Given the description of an element on the screen output the (x, y) to click on. 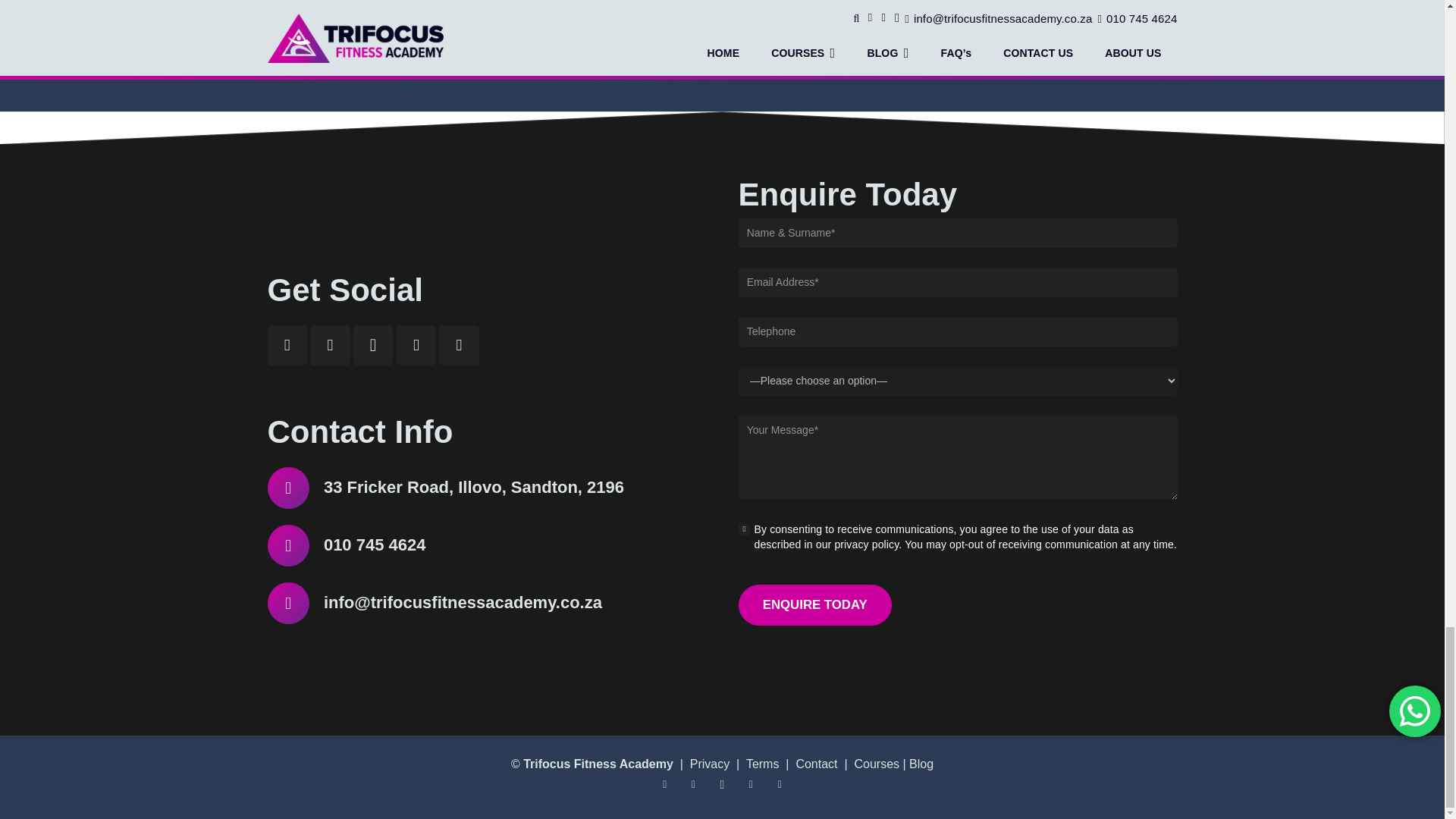
WhatsApp (416, 345)
Instagram (373, 345)
Facebook (664, 784)
Instagram (722, 784)
Facebook (286, 345)
1 (744, 529)
YouTube (692, 784)
Calendly (459, 345)
Enquire Today (814, 604)
WhatsApp (751, 784)
YouTube (330, 345)
